Given the description of an element on the screen output the (x, y) to click on. 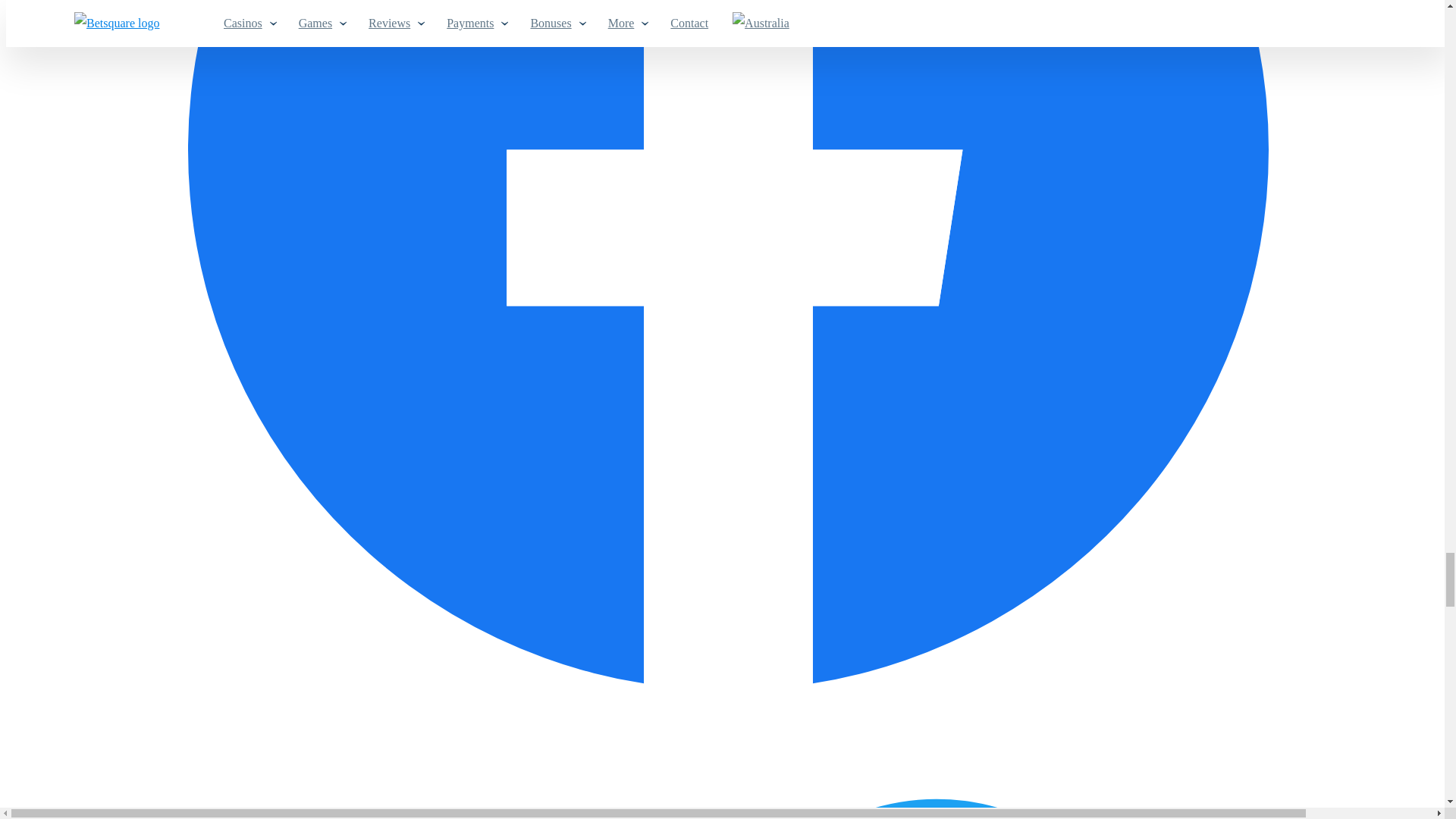
Facebook (727, 685)
